Given the description of an element on the screen output the (x, y) to click on. 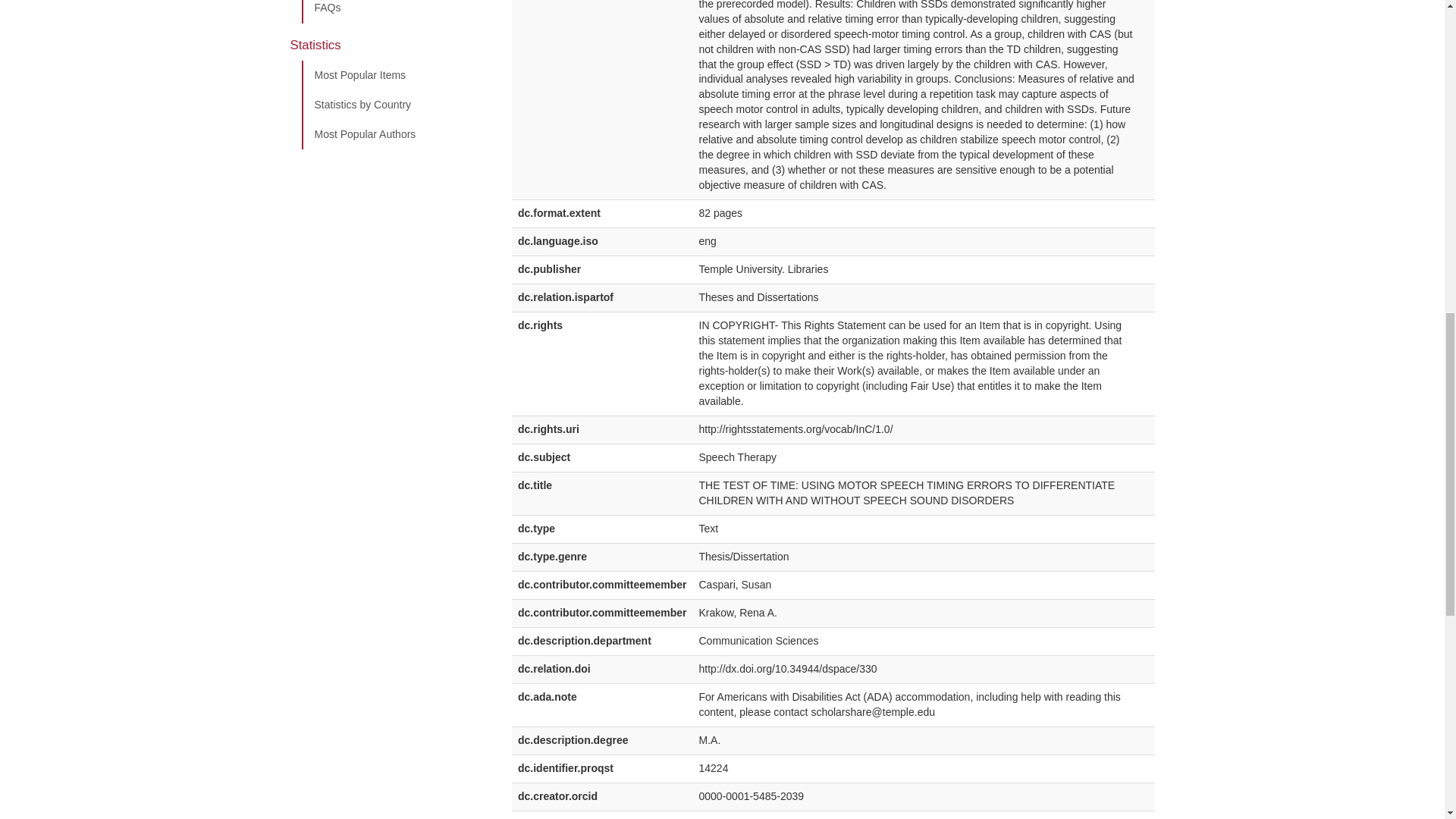
Most Popular Items (395, 75)
Statistics by Country (395, 105)
Most Popular Authors (395, 134)
FAQs (395, 11)
